Given the description of an element on the screen output the (x, y) to click on. 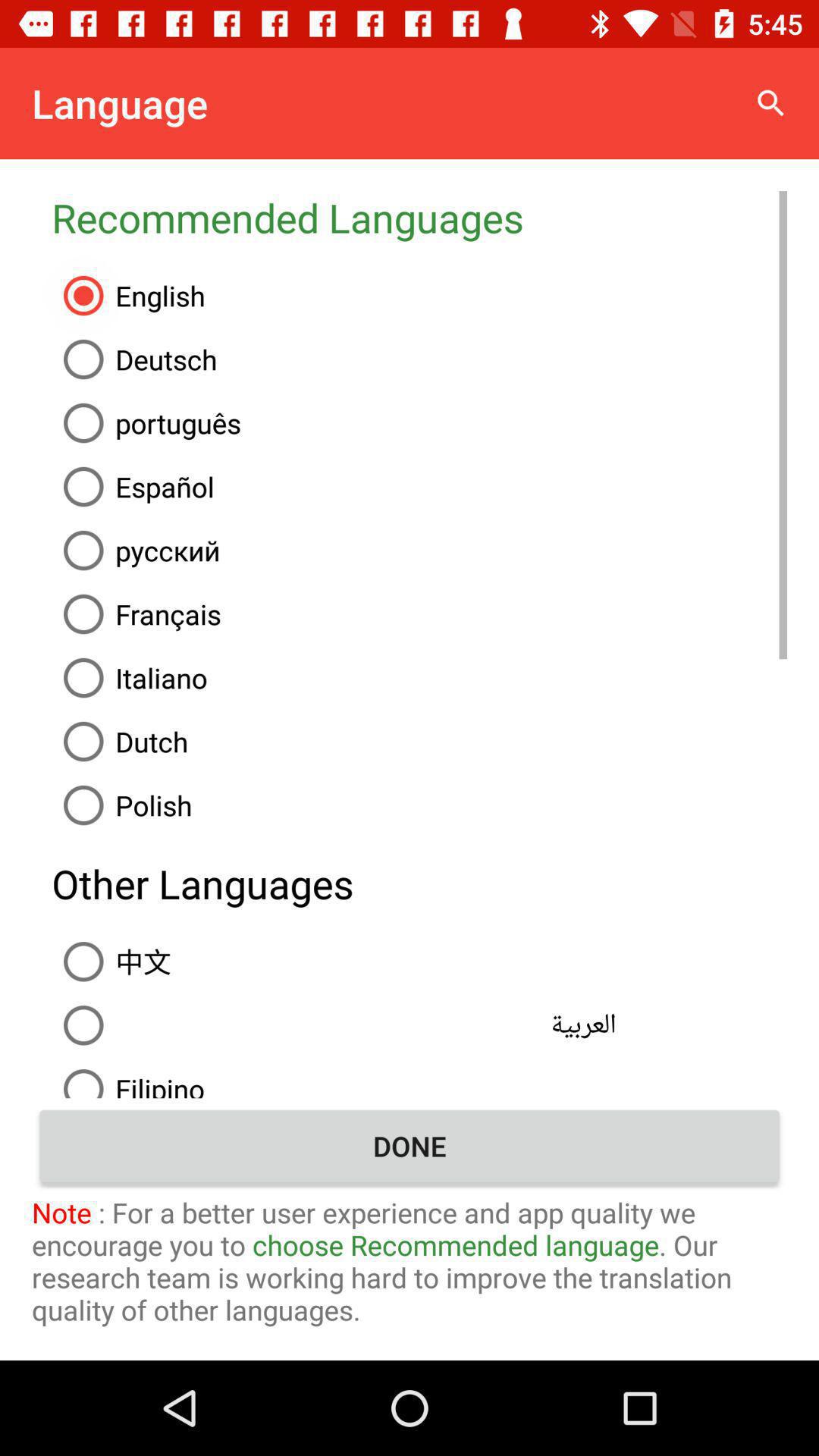
select the item above the note for a item (409, 1145)
